Given the description of an element on the screen output the (x, y) to click on. 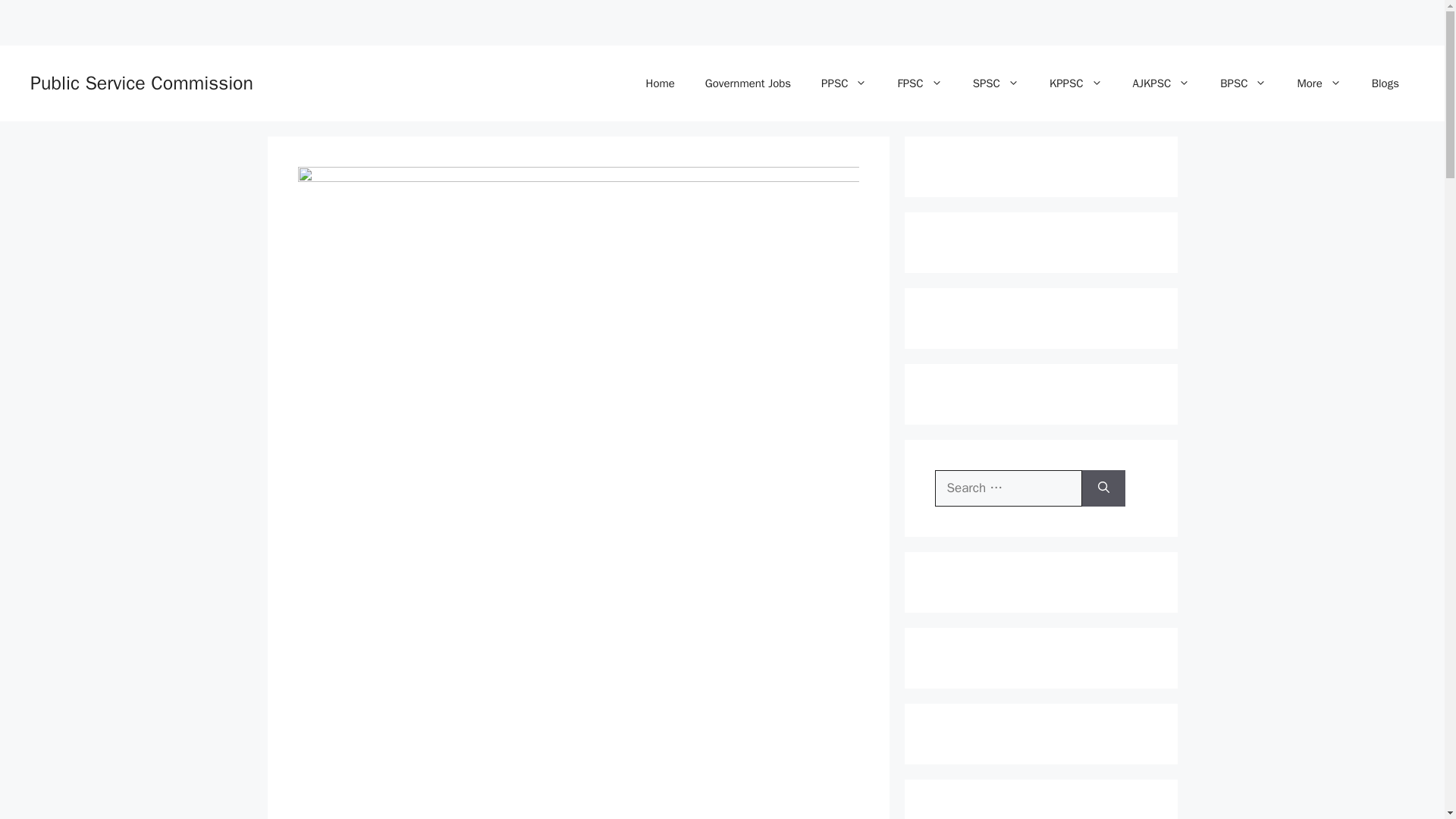
Home (660, 83)
PPSC (844, 83)
SPSC (995, 83)
Search for: (1007, 488)
FPSC (919, 83)
More (1318, 83)
Public Service Commission (141, 83)
Government Jobs (748, 83)
AJKPSC (1161, 83)
BPSC (1243, 83)
KPPSC (1075, 83)
